Given the description of an element on the screen output the (x, y) to click on. 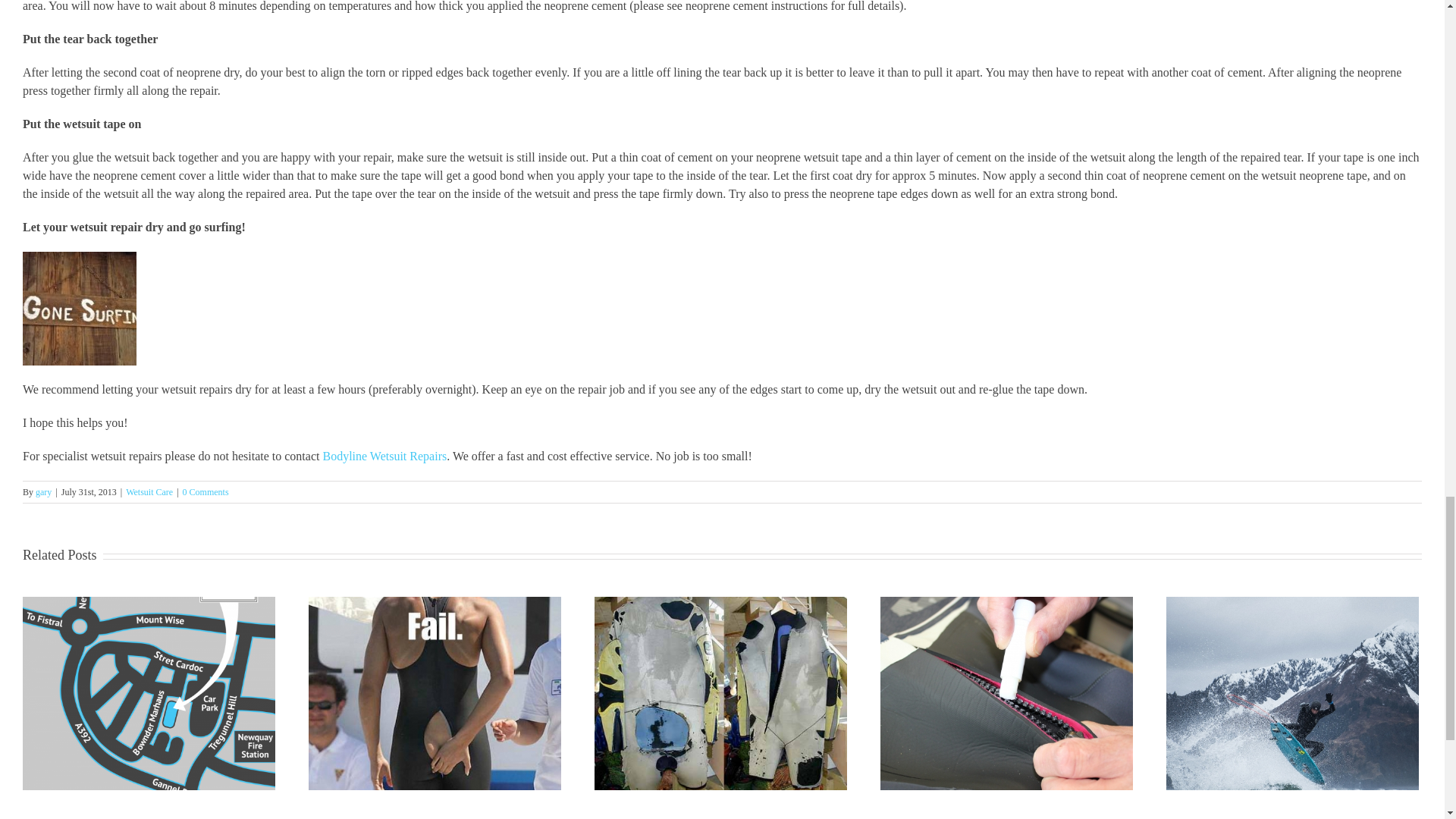
bodyline wetsuit repairs (383, 455)
Posts by gary (42, 491)
Wetsuit Care (149, 491)
Bodyline Wetsuit Repairs (383, 455)
gary (42, 491)
0 Comments (205, 491)
